Given the description of an element on the screen output the (x, y) to click on. 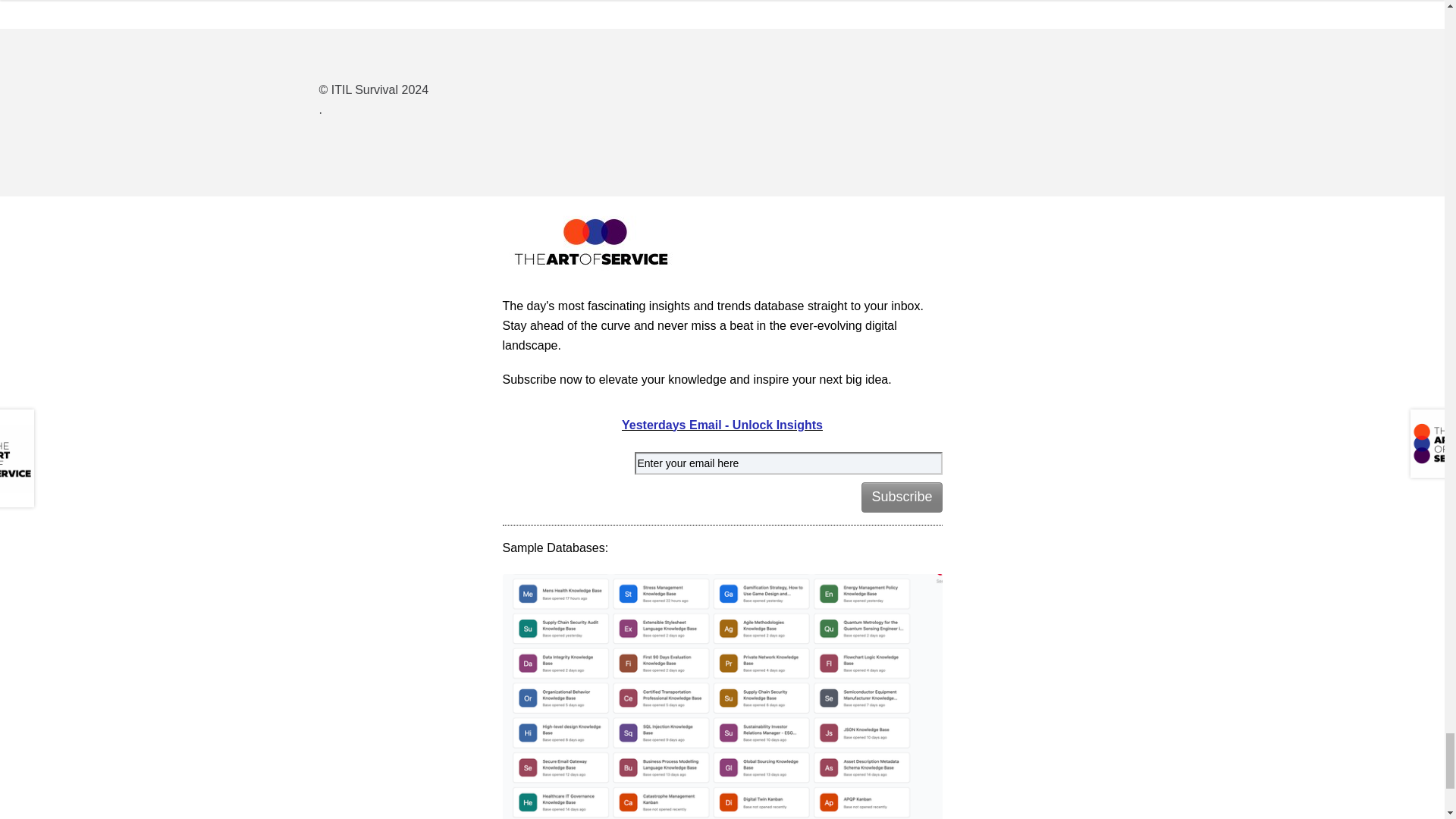
Enter your email here (787, 463)
Subscribe (901, 496)
